Given the description of an element on the screen output the (x, y) to click on. 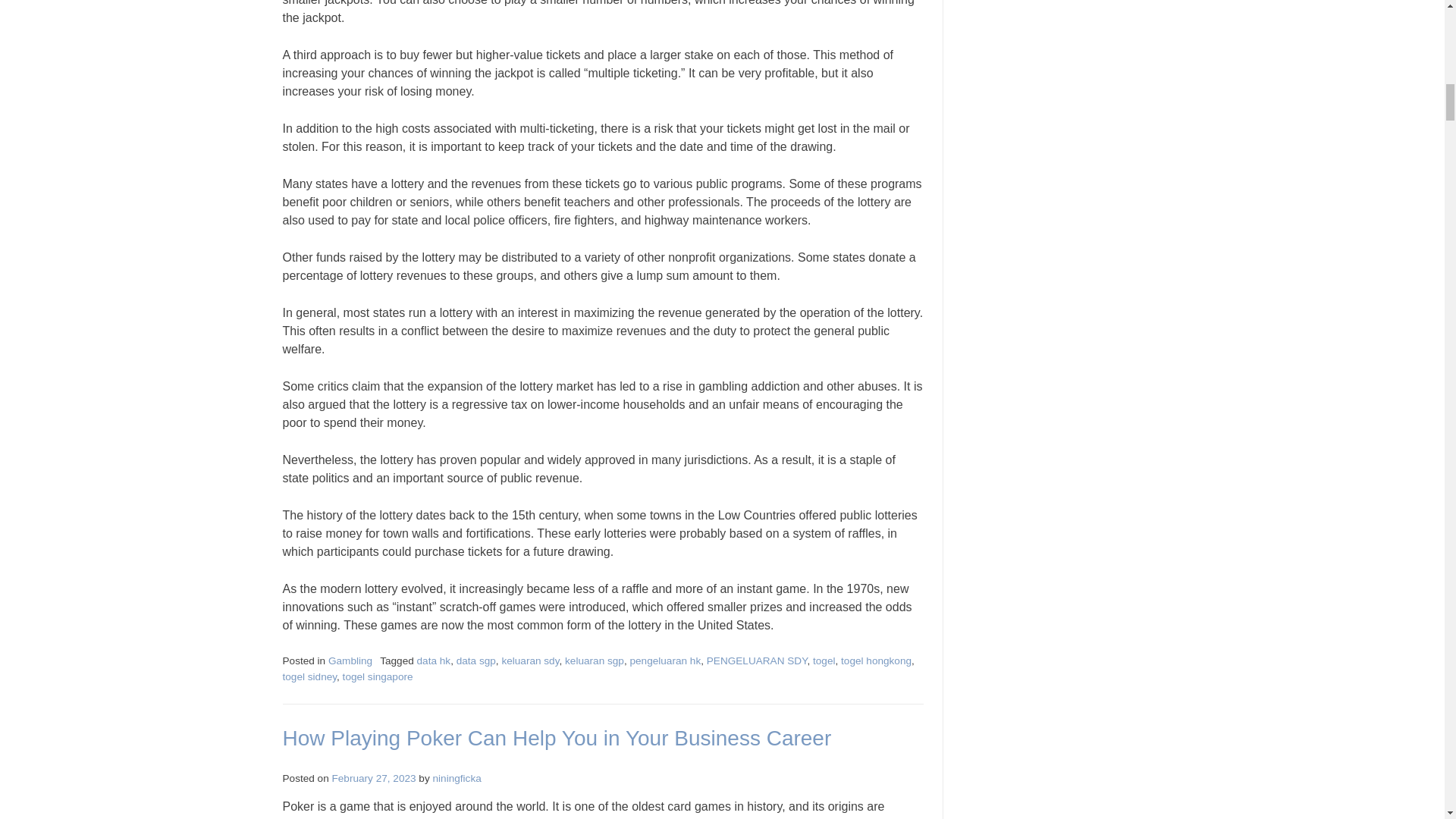
niningficka (456, 778)
February 27, 2023 (373, 778)
PENGELUARAN SDY (757, 660)
data sgp (476, 660)
togel singapore (377, 676)
How Playing Poker Can Help You in Your Business Career (556, 738)
data hk (433, 660)
togel hongkong (876, 660)
Gambling (350, 660)
togel (823, 660)
